Given the description of an element on the screen output the (x, y) to click on. 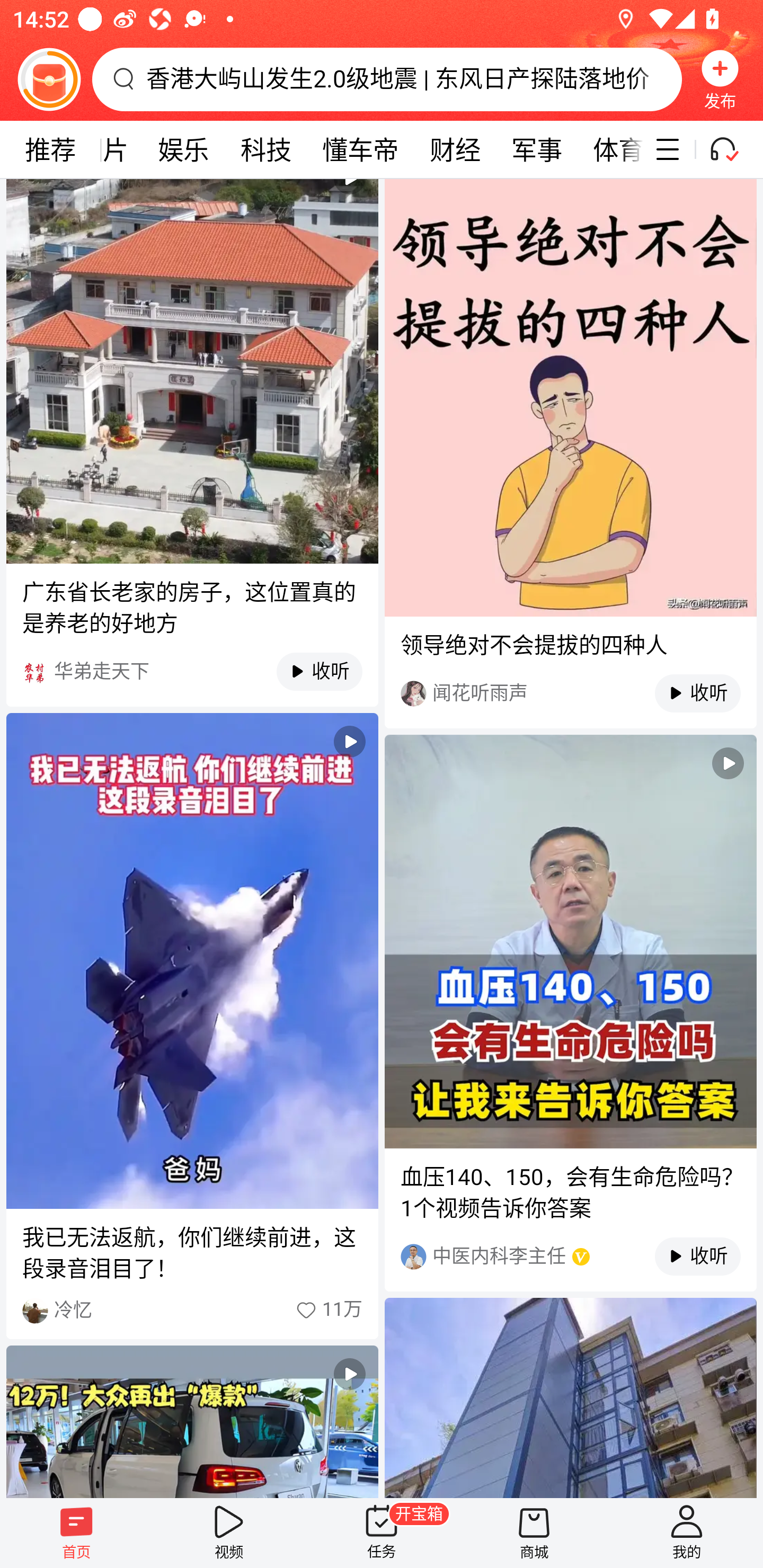
阅读赚金币 (48, 79)
发布 发布，按钮 (720, 78)
推荐 (49, 149)
娱乐 (183, 149)
科技 (265, 149)
懂车帝 (360, 149)
财经 (454, 149)
军事 (536, 149)
体育 (610, 149)
听一听开关 (732, 149)
视频 广东省长老家的房子，这位置真的是养老的好地方  作者,华弟走天下,按钮 头像 华弟走天下 收听 (192, 442)
领导绝对不会提拔的四种人  作者,闻花听雨声,按钮 头像 闻花听雨声 收听 (570, 453)
作者,华弟走天下,按钮 头像 华弟走天下 收听 (192, 671)
收听 (309, 671)
作者,闻花听雨声,按钮 头像 闻花听雨声 收听 (570, 693)
收听 (687, 692)
视频 我已无法返航，你们继续前进，这段录音泪目了！  作者,冷忆,按钮 头像 冷忆 赞11万 赞 (192, 1026)
作者,中医内科李主任,认证用户 按钮 头像 中医内科李主任 收听 (570, 1256)
收听 (687, 1256)
作者,冷忆,按钮 头像 冷忆 赞11万 赞 (192, 1310)
首页 (76, 1532)
视频 (228, 1532)
任务 开宝箱 (381, 1532)
商城 (533, 1532)
我的 (686, 1532)
